Given the description of an element on the screen output the (x, y) to click on. 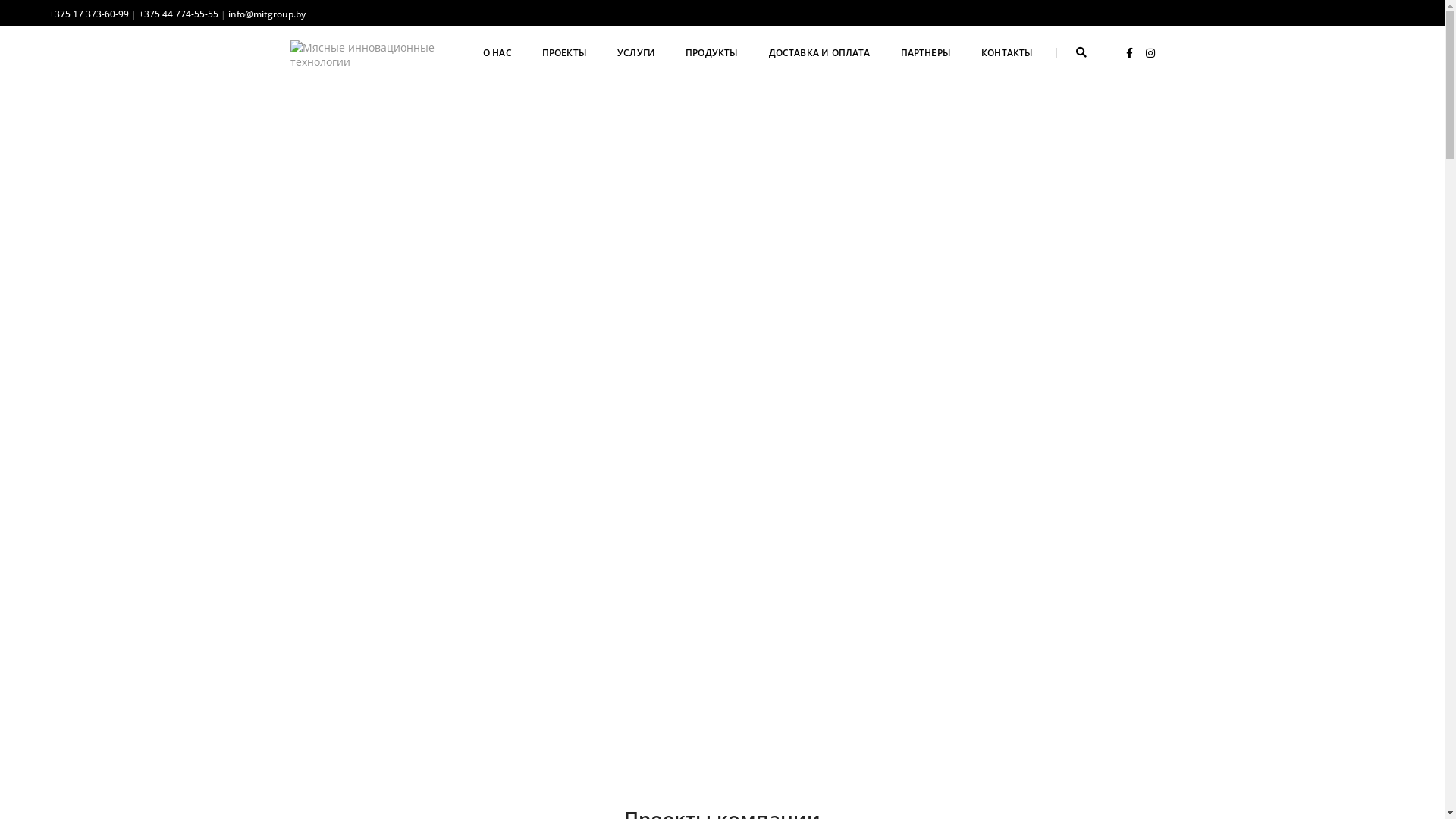
info@mitgroup.by Element type: text (266, 13)
+375 17 373-60-99 Element type: text (88, 13)
+375 44 774-55-55 Element type: text (178, 13)
